Given the description of an element on the screen output the (x, y) to click on. 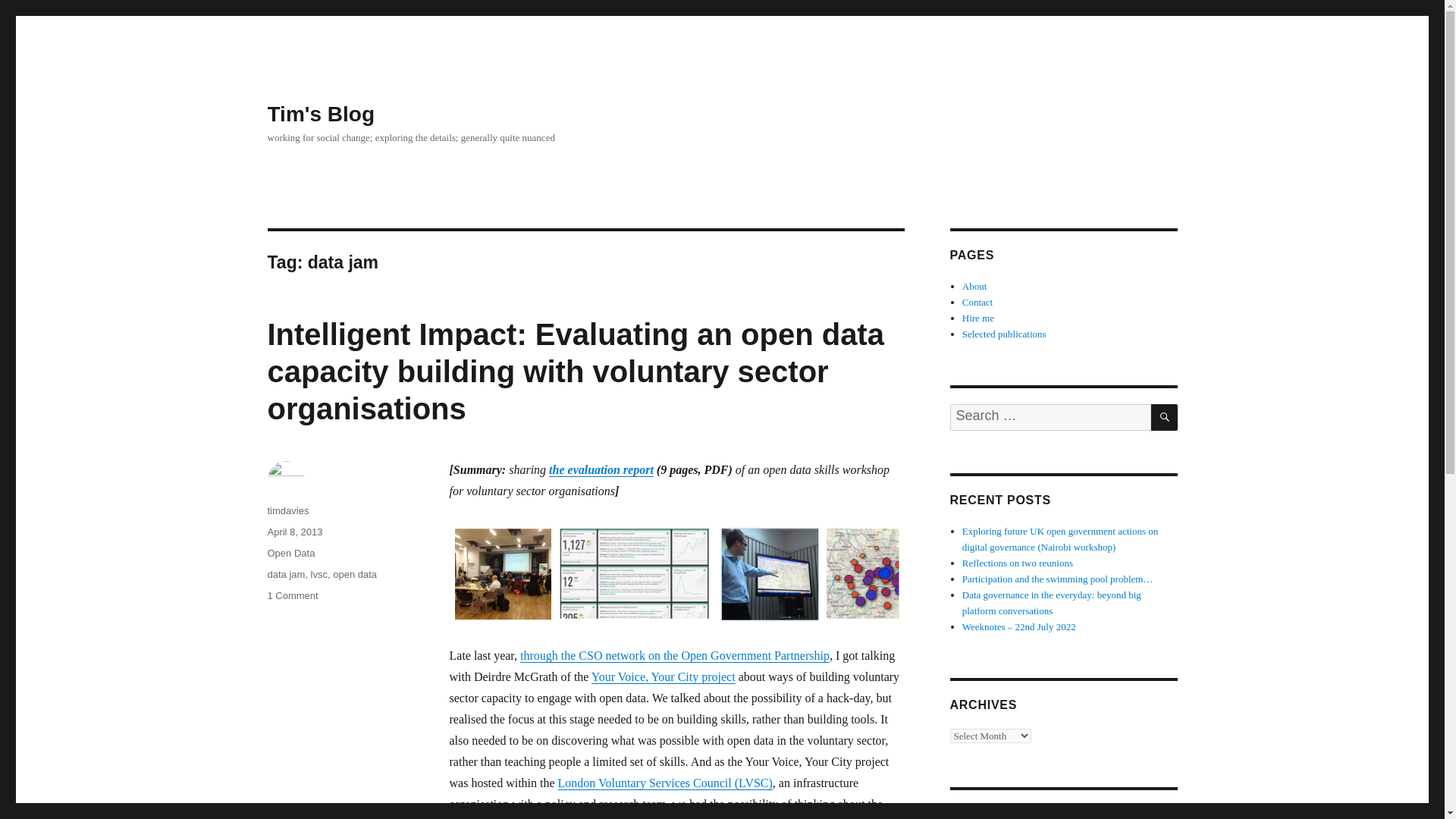
Contact (977, 301)
open data (355, 573)
Selected publications (1004, 333)
About (974, 285)
Hire me (978, 317)
Open Data (290, 552)
Tim's Blog (320, 114)
